Given the description of an element on the screen output the (x, y) to click on. 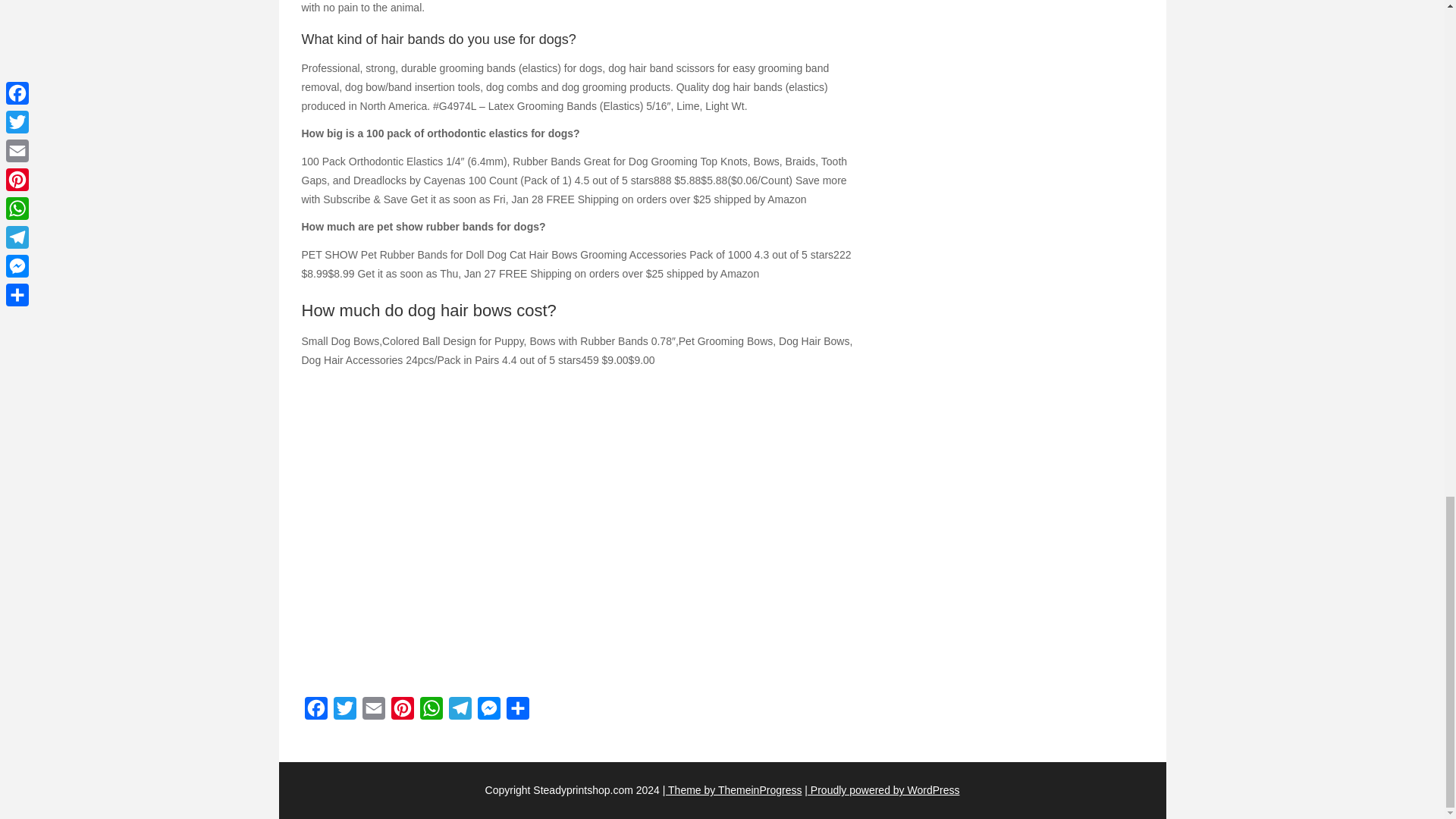
Email (373, 711)
Pinterest (402, 711)
Twitter (344, 711)
Facebook (315, 711)
